Given the description of an element on the screen output the (x, y) to click on. 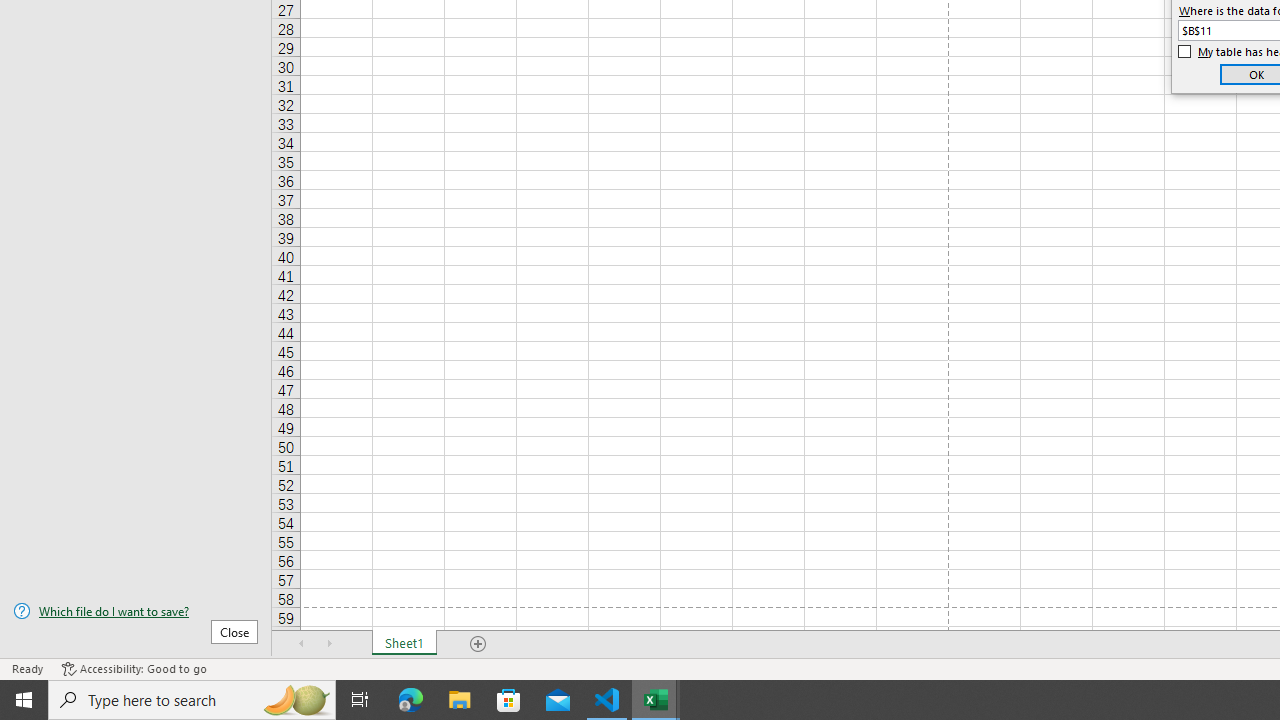
Which file do I want to save? (136, 611)
Scroll Right (330, 644)
Scroll Left (302, 644)
Close (234, 631)
Sheet1 (404, 644)
Accessibility Checker Accessibility: Good to go (134, 668)
Add Sheet (478, 644)
